Given the description of an element on the screen output the (x, y) to click on. 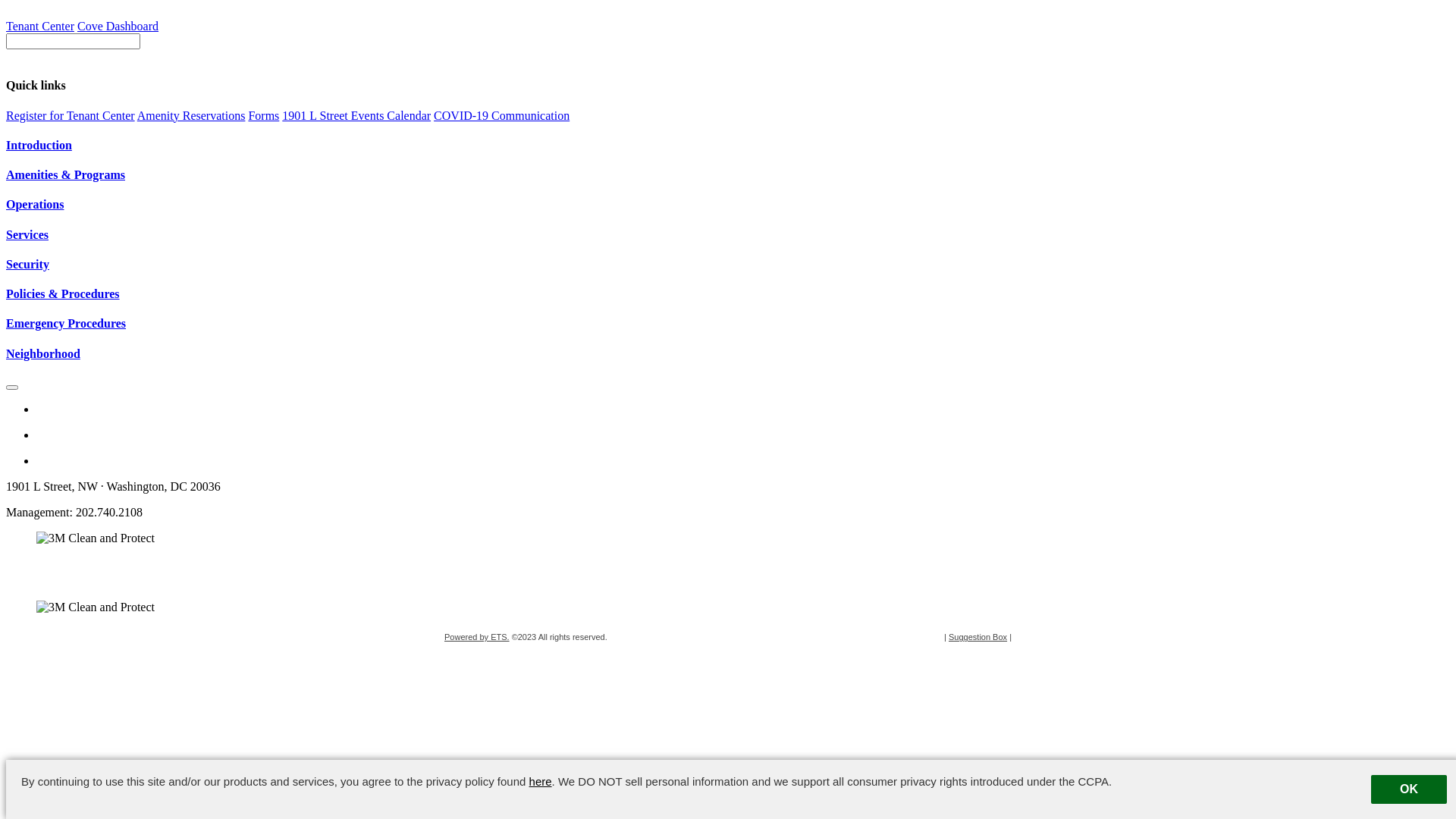
Introduction Element type: text (727, 145)
Tenant Center Element type: text (40, 25)
Forms Element type: text (263, 115)
Operations Element type: text (727, 204)
1901 L Street Events Calendar Element type: text (356, 115)
Policies & Procedures Element type: text (727, 294)
Register for Tenant Center Element type: text (70, 115)
Powered by ETS. Element type: text (476, 636)
Suggestion Box Element type: text (977, 636)
Neighborhood Element type: text (727, 353)
COVID-19 Communication Element type: text (501, 115)
Emergency Procedures Element type: text (727, 323)
Cove Dashboard Element type: text (117, 25)
Security Element type: text (727, 264)
here Element type: text (540, 781)
Amenities & Programs Element type: text (727, 175)
Services Element type: text (727, 234)
Amenity Reservations Element type: text (191, 115)
